Given the description of an element on the screen output the (x, y) to click on. 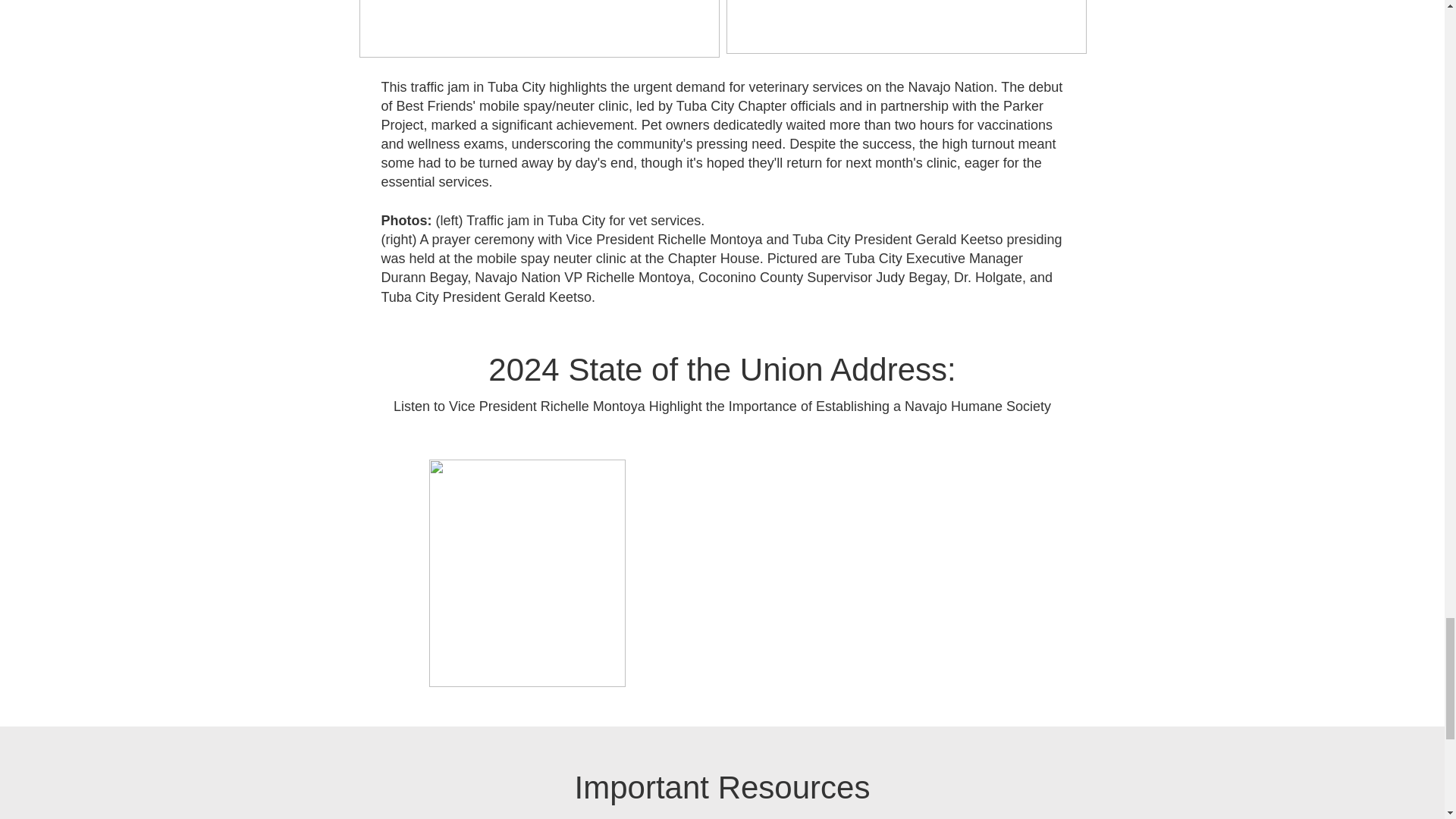
navajo spay clinic line up.jpg (539, 28)
